Given the description of an element on the screen output the (x, y) to click on. 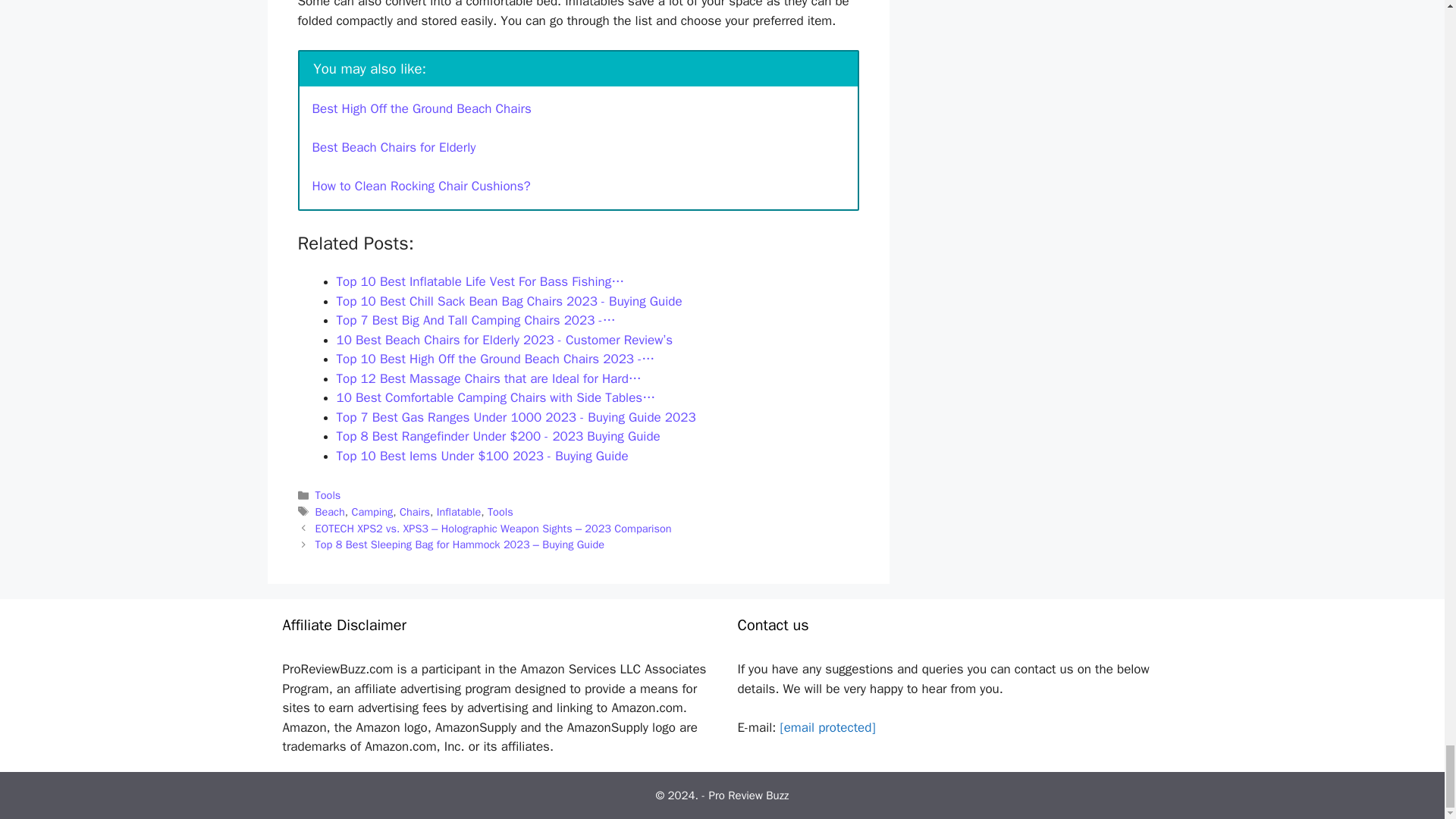
Top 10 Best Chill Sack Bean Bag Chairs 2023 - Buying Guide (509, 301)
Beach (330, 511)
Chairs (413, 511)
Tools (327, 495)
Best High Off the Ground Beach Chairs (422, 108)
How to Clean Rocking Chair Cushions? (422, 186)
Inflatable (458, 511)
Best Beach Chairs for Elderly (394, 147)
Camping (371, 511)
Top 7 Best Gas Ranges Under 1000 2023 - Buying Guide 2023 (515, 417)
